Given the description of an element on the screen output the (x, y) to click on. 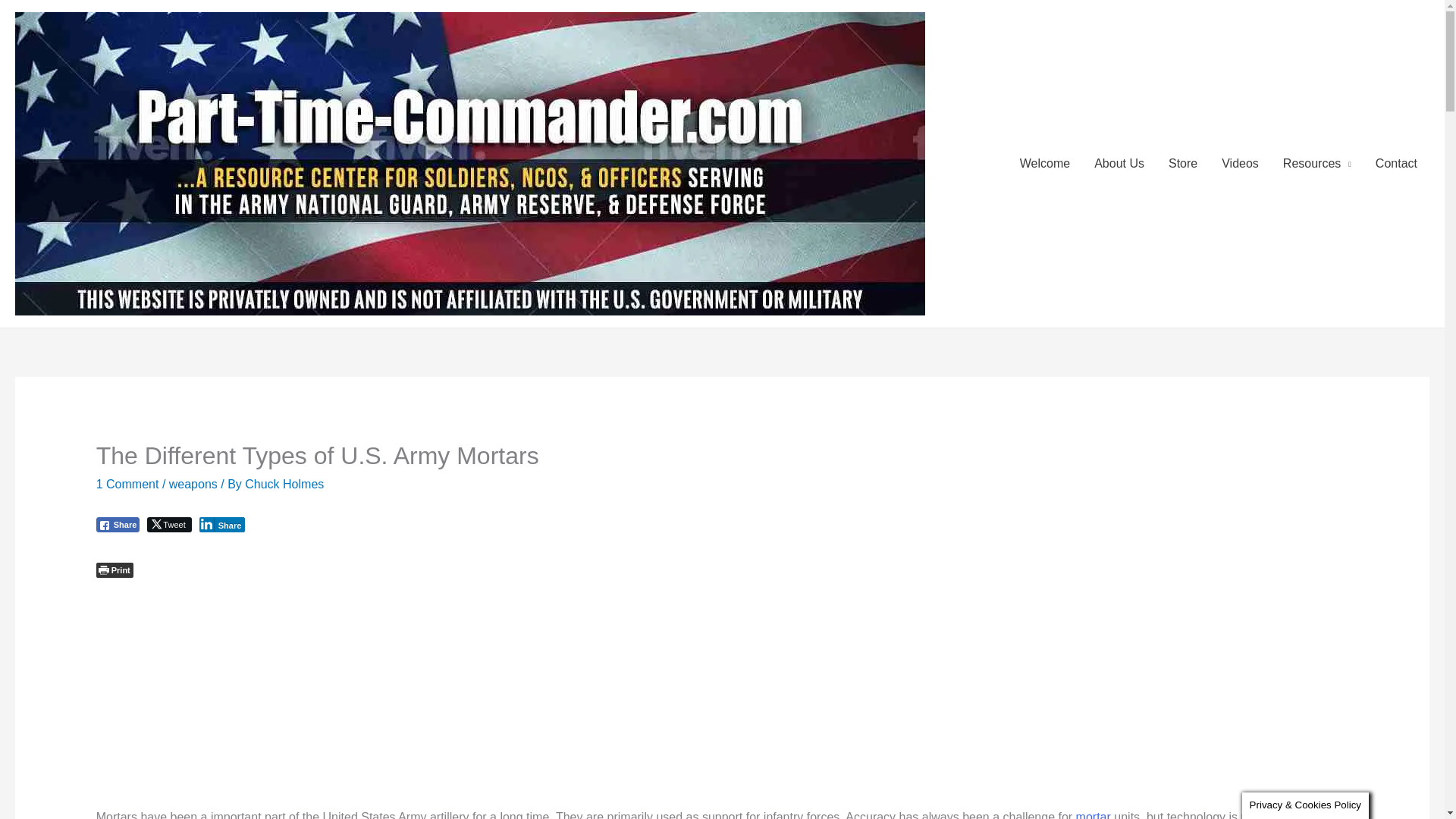
Share (117, 524)
mortar (1092, 814)
1 Comment (127, 483)
Tweet (168, 524)
Advertisement (721, 694)
Chuck Holmes (283, 483)
View all posts by Chuck Holmes (283, 483)
Print (114, 570)
Share (222, 524)
weapons (192, 483)
